Given the description of an element on the screen output the (x, y) to click on. 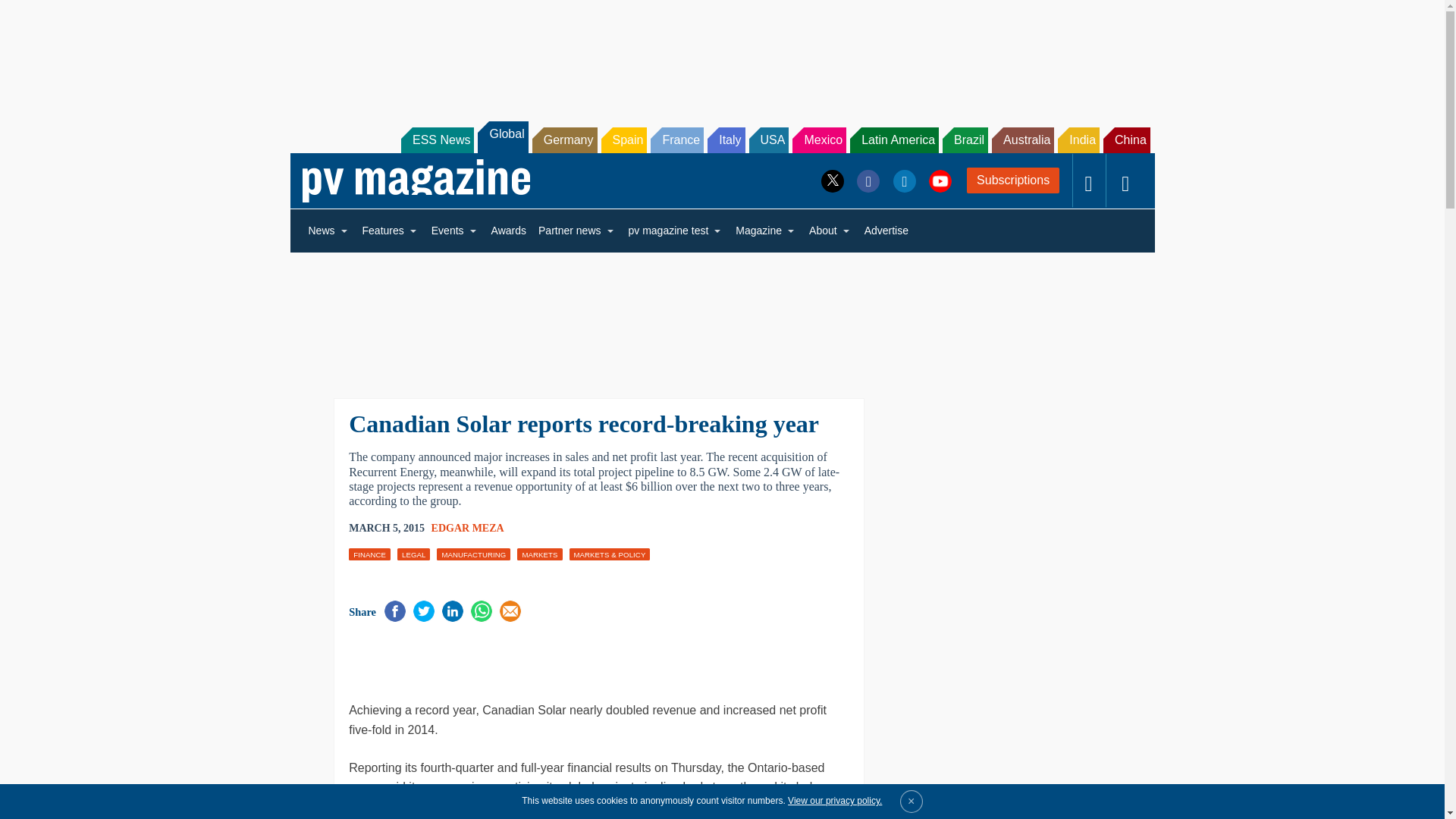
3rd party ad content (721, 315)
Global (502, 137)
France (676, 140)
Australia (1022, 140)
India (1078, 140)
pv magazine - Photovoltaics Markets and Technology (415, 180)
Germany (564, 140)
pv magazine - Photovoltaics Markets and Technology (415, 180)
3rd party ad content (526, 659)
Search (32, 15)
